Given the description of an element on the screen output the (x, y) to click on. 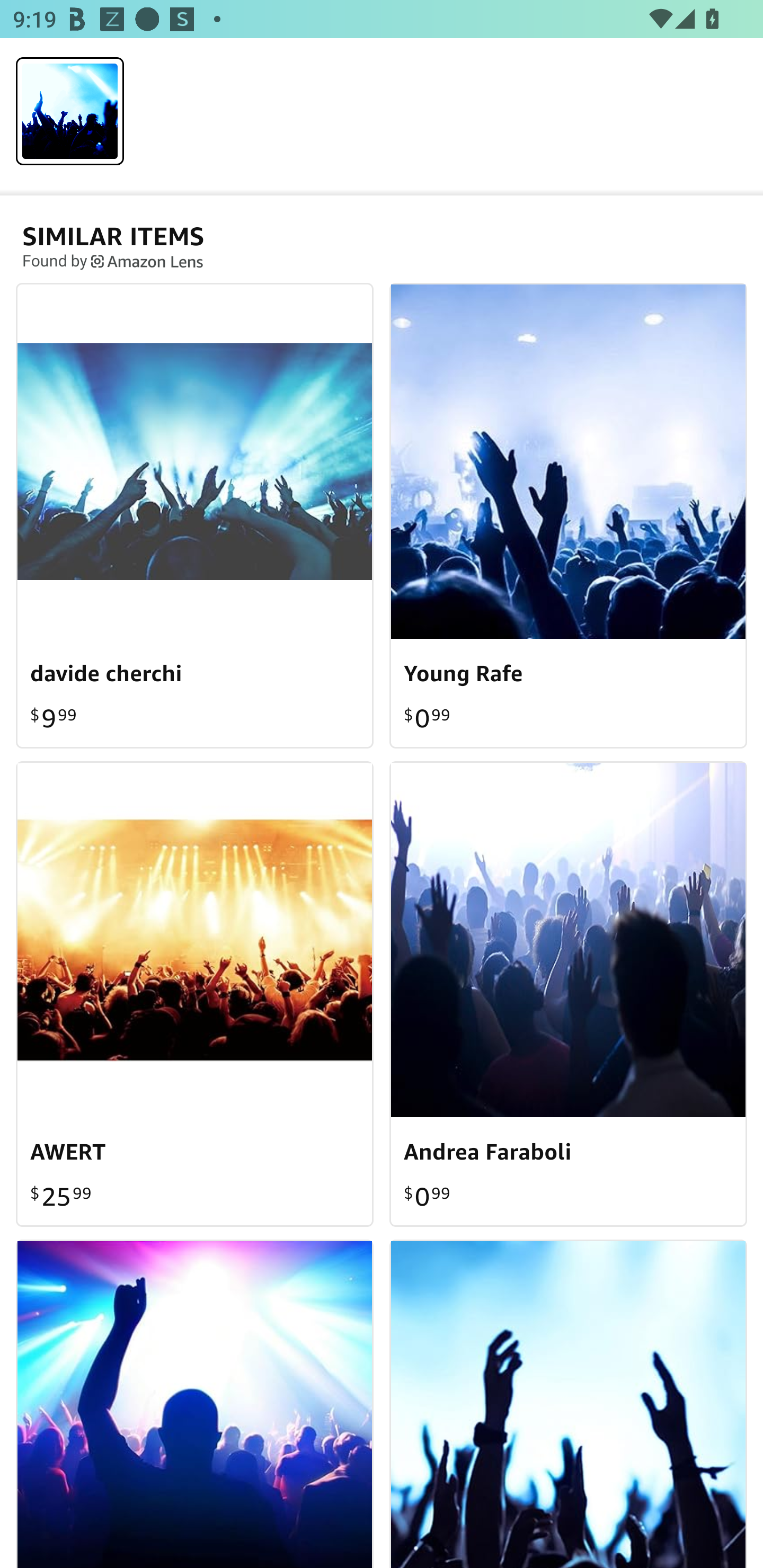
davide cherchi $ 9 99 (194, 514)
Young Rafe $ 0 99 (567, 514)
AWERT $ 25 99 (194, 993)
Andrea Faraboli $ 0 99 (567, 993)
